Given the description of an element on the screen output the (x, y) to click on. 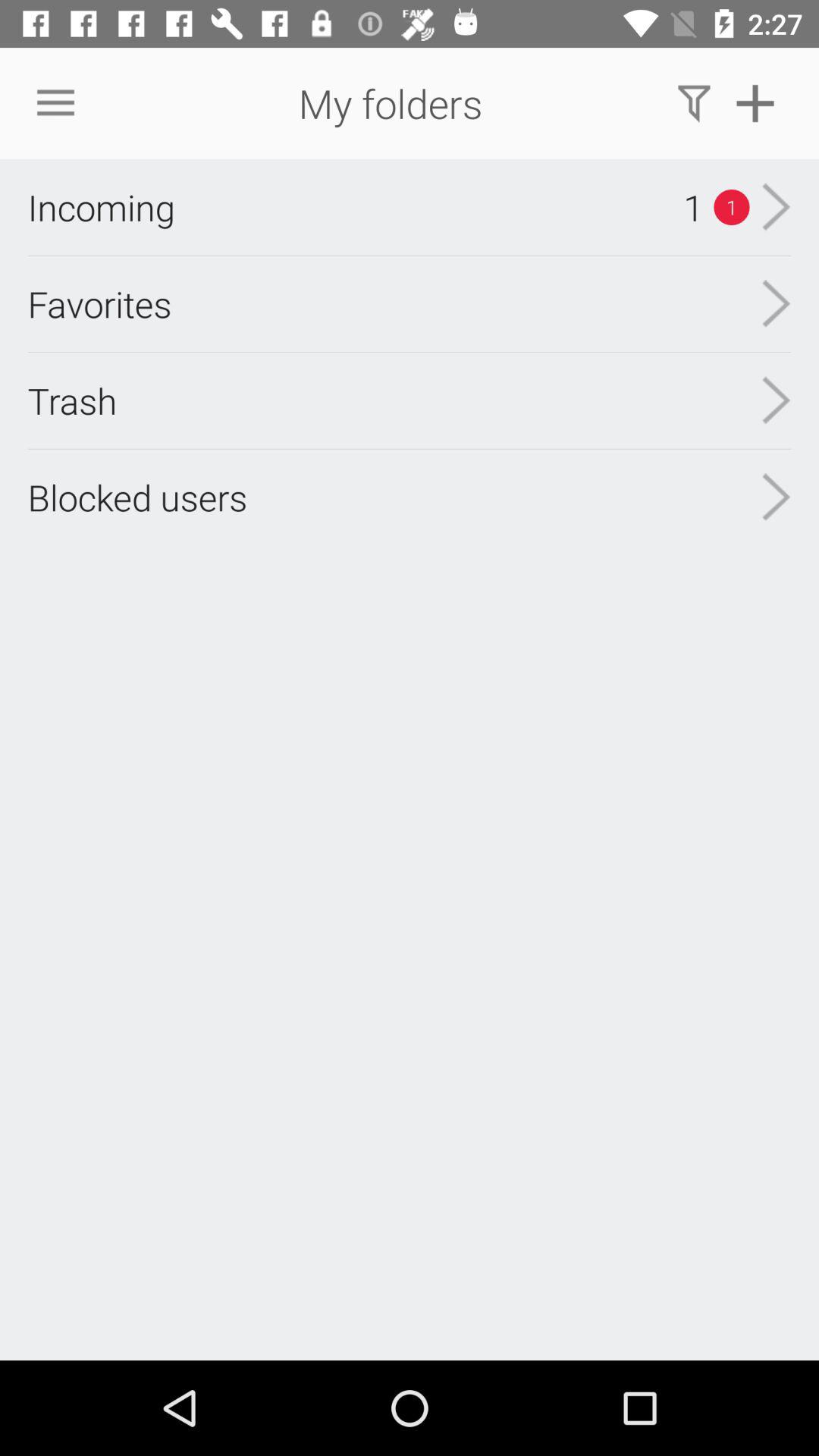
click the blocked users on the left (137, 497)
